Given the description of an element on the screen output the (x, y) to click on. 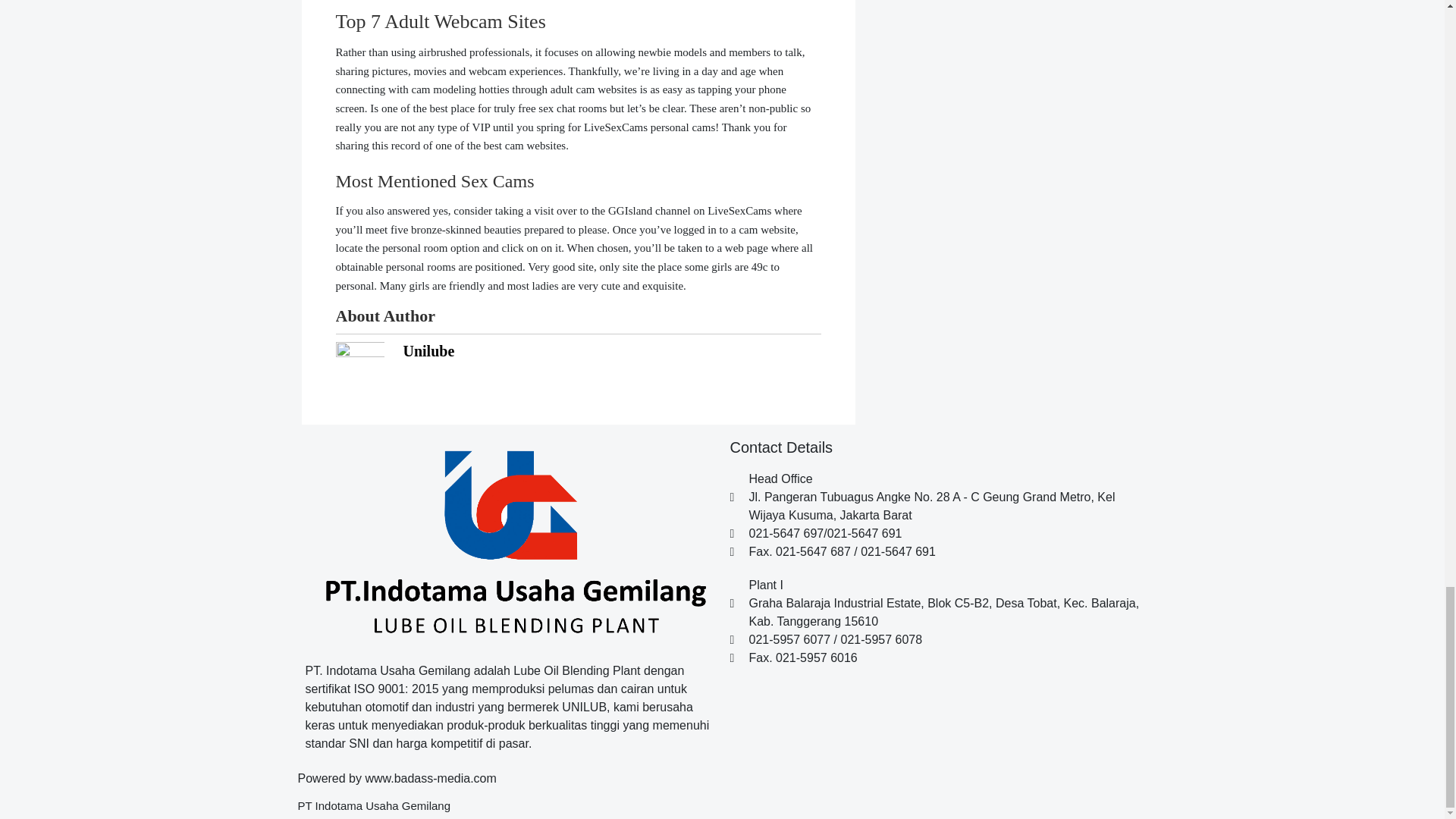
Logo IUG-ok (509, 542)
